Given the description of an element on the screen output the (x, y) to click on. 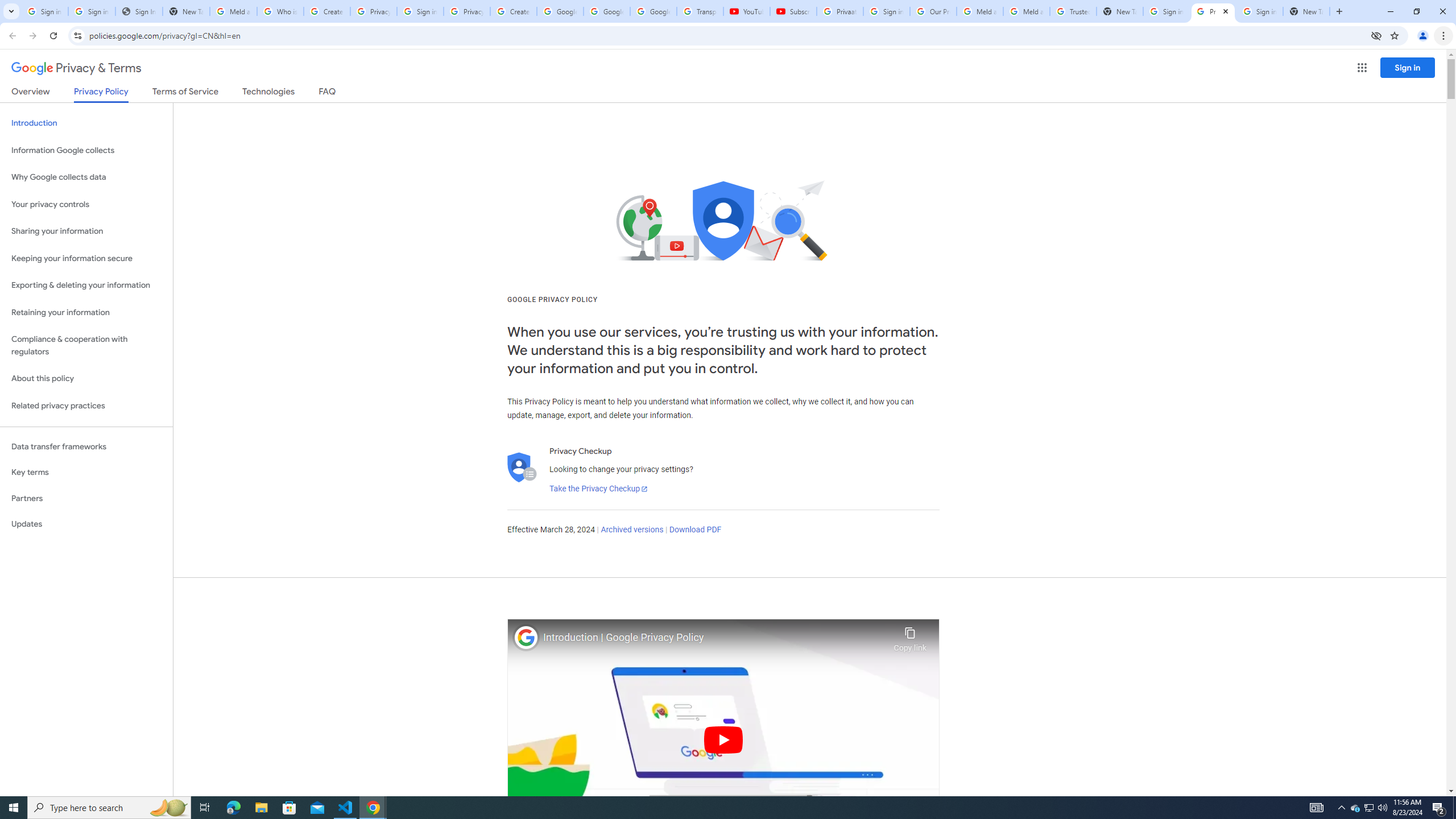
Key terms (86, 472)
Sign In - USA TODAY (138, 11)
Sign in - Google Accounts (1166, 11)
YouTube (745, 11)
Trusted Information and Content - Google Safety Center (1073, 11)
Create your Google Account (512, 11)
Take the Privacy Checkup (597, 488)
